Given the description of an element on the screen output the (x, y) to click on. 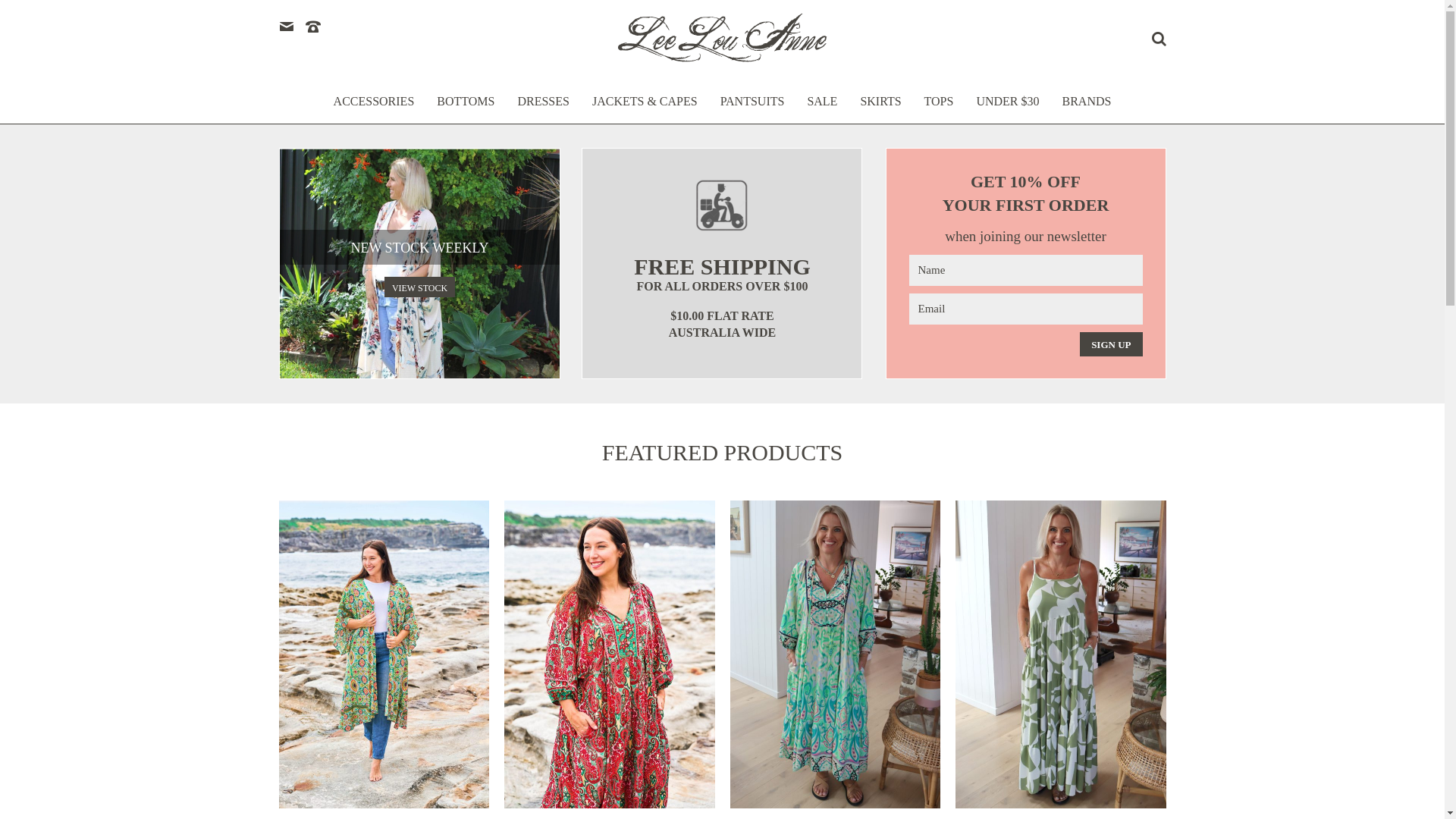
SKIRTS Element type: text (879, 108)
UNDER $30 Element type: text (1006, 108)
VIEW STOCK Element type: text (419, 286)
ACCESSORIES Element type: text (373, 108)
DRESSES Element type: text (542, 108)
NEW STOCK WEEKLY
VIEW STOCK Element type: text (419, 263)
JACKETS & CAPES Element type: text (644, 108)
BRANDS Element type: text (1086, 108)
Sign Up Element type: text (1110, 344)
TOPS Element type: text (938, 108)
BOTTOMS Element type: text (465, 108)
PANTSUITS Element type: text (752, 108)
SALE Element type: text (821, 108)
